Given the description of an element on the screen output the (x, y) to click on. 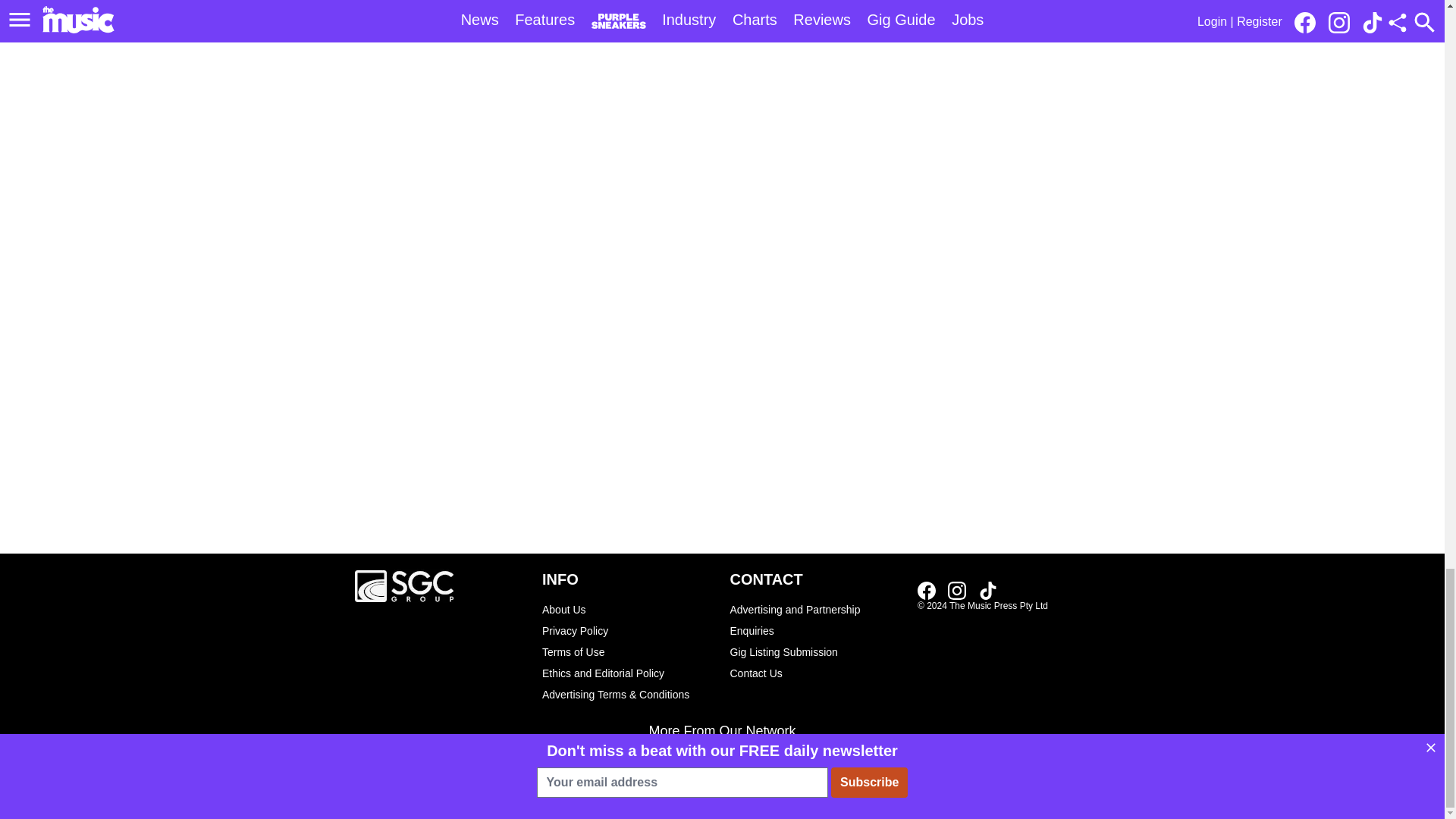
Terms of Use (627, 651)
Link to our Instagram (956, 590)
Privacy Policy (627, 630)
Link to our TikTok (987, 590)
Advertising and Partnership Enquiries (815, 619)
Ethics and Editorial Policy (627, 672)
Link to our Facebook (926, 590)
About Us (627, 608)
